Given the description of an element on the screen output the (x, y) to click on. 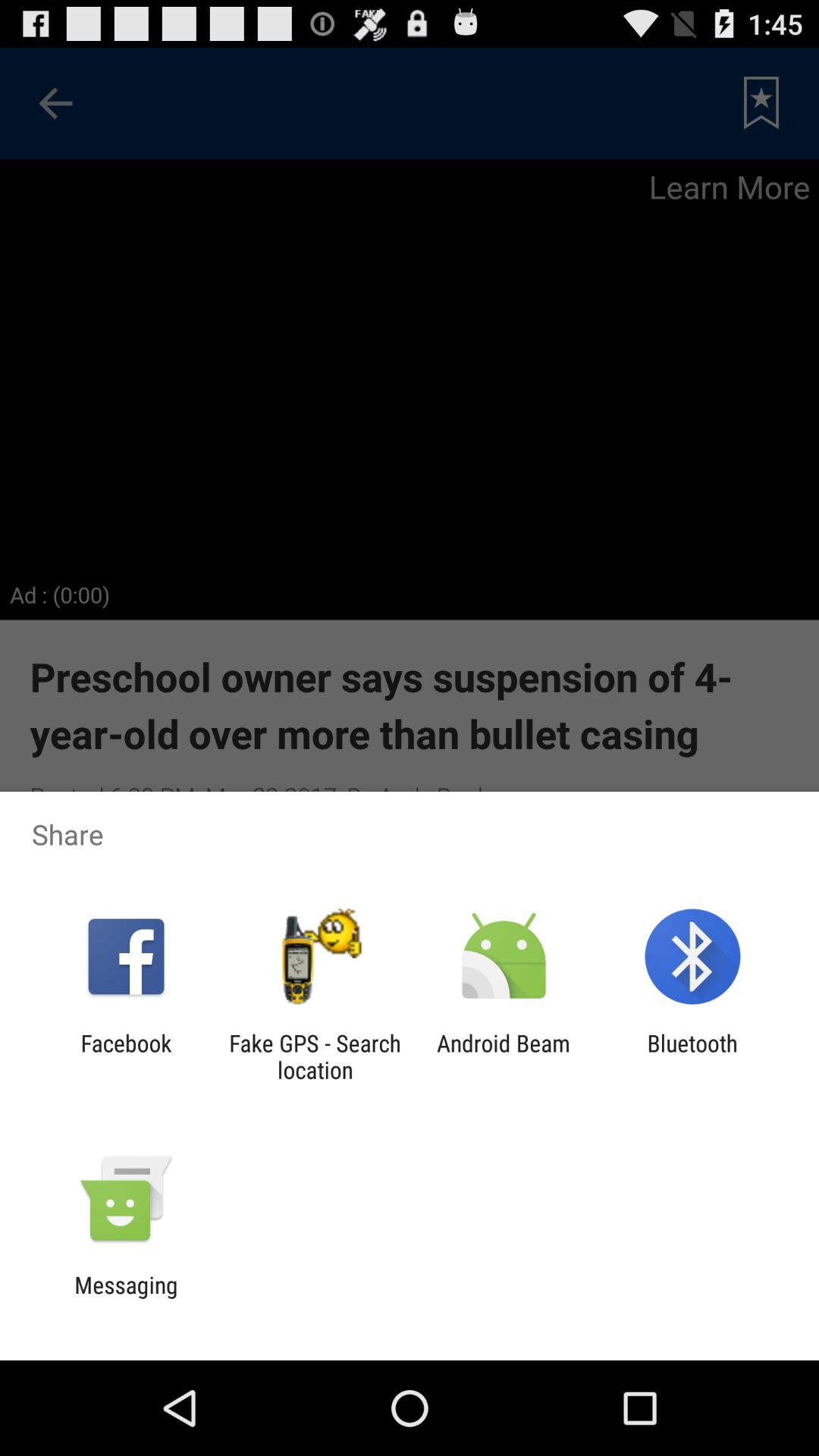
click the icon next to the facebook icon (314, 1056)
